Given the description of an element on the screen output the (x, y) to click on. 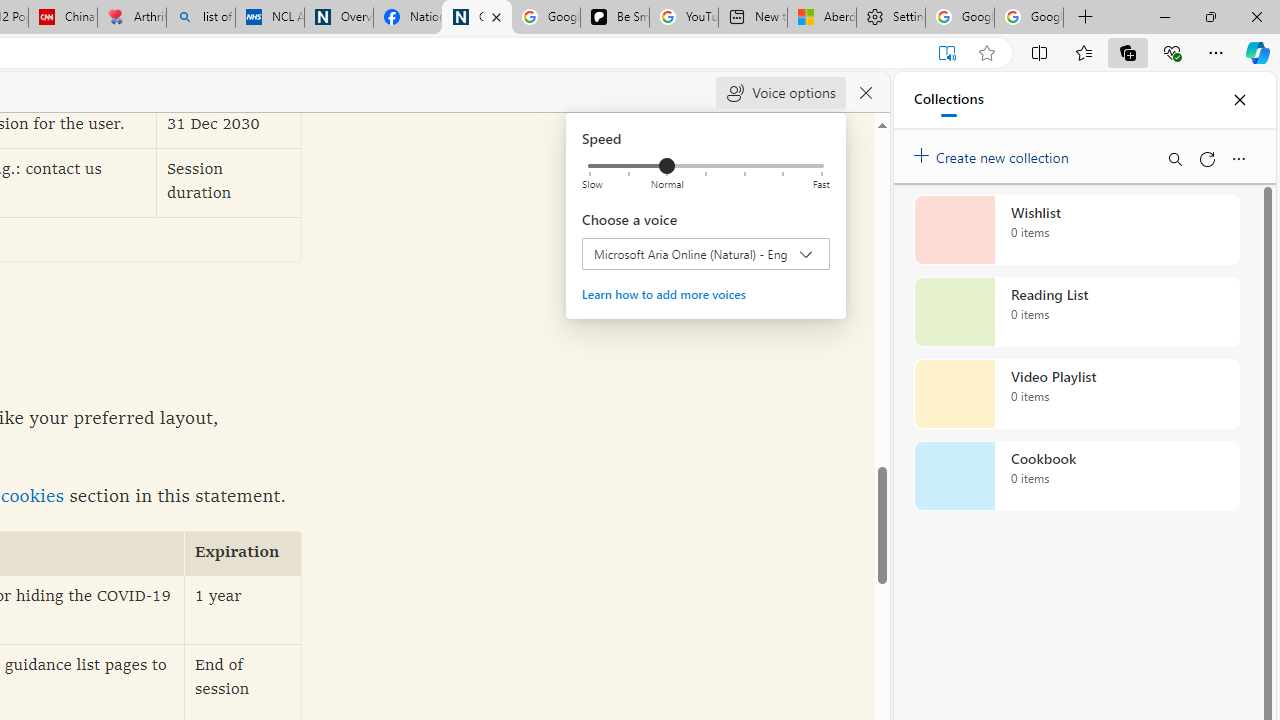
Be Smart | creating Science videos | Patreon (614, 17)
Expiration (243, 554)
Session duration (229, 182)
Cookbook collection, 0 items (1076, 475)
Wishlist collection, 0 items (1076, 229)
Voice options (780, 92)
Cookies (476, 17)
Arthritis: Ask Health Professionals (132, 17)
Reading List collection, 0 items (1076, 312)
